Given the description of an element on the screen output the (x, y) to click on. 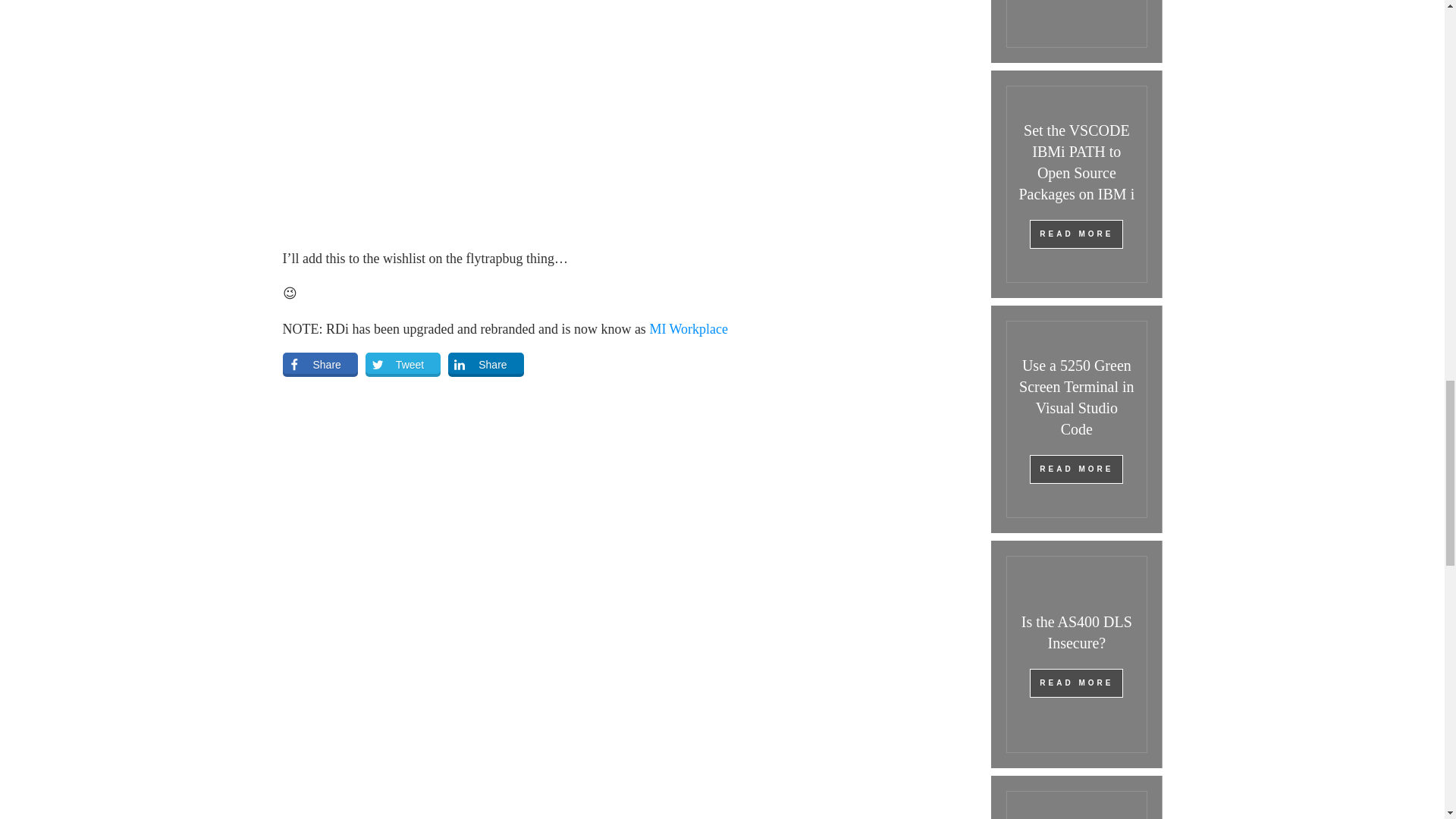
MI Workplace (688, 328)
READ MORE (1075, 469)
Share (319, 364)
Set the VSCODE IBMi PATH to Open Source Packages on IBM i (1075, 162)
Share (485, 364)
READ MORE (1075, 234)
Is the AS400 DLS Insecure? (1077, 632)
Is the AS400 DLS Insecure? (1077, 632)
Tweet (403, 364)
READ MORE (1075, 683)
Use a 5250 Green Screen Terminal in Visual Studio Code (1076, 397)
Use a 5250 Green Screen Terminal in Visual Studio Code (1076, 397)
